Given the description of an element on the screen output the (x, y) to click on. 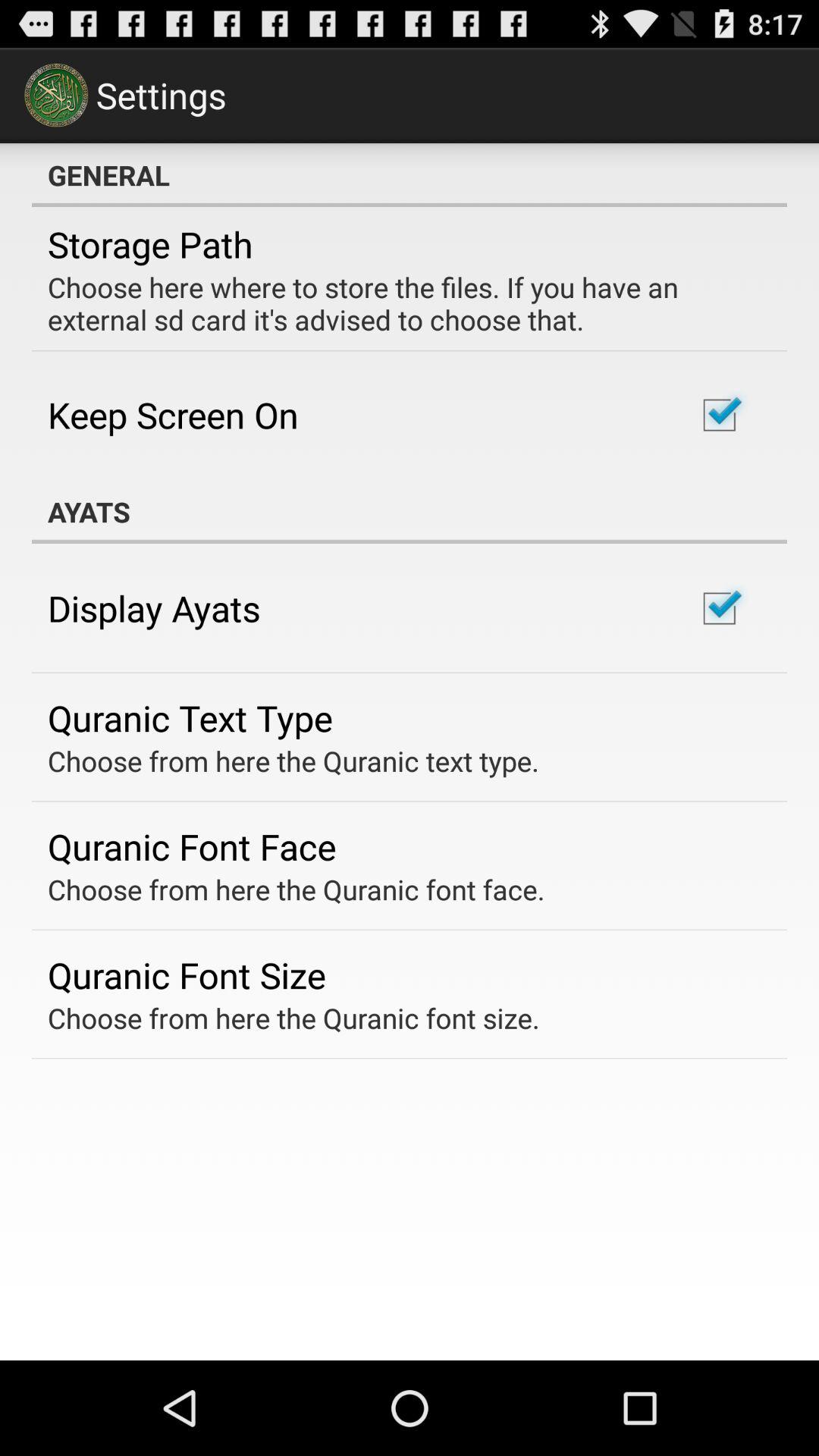
jump until storage path item (150, 244)
